Given the description of an element on the screen output the (x, y) to click on. 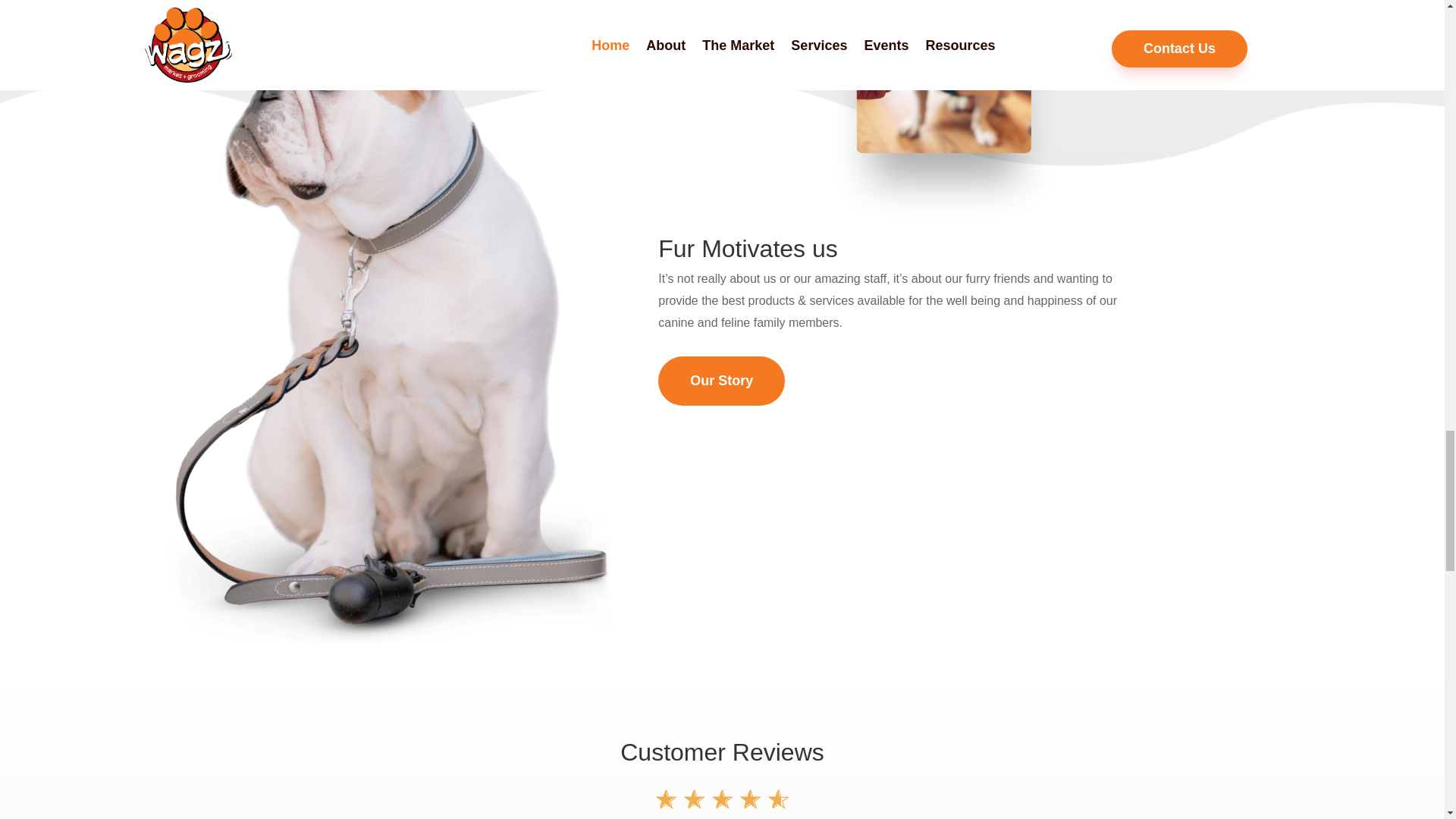
wagz-website-2023-047 (776, 64)
Our Story (721, 380)
F8AA750A-9841-46B5-8B72-A1AC3C3DCD27 (978, 119)
